Given the description of an element on the screen output the (x, y) to click on. 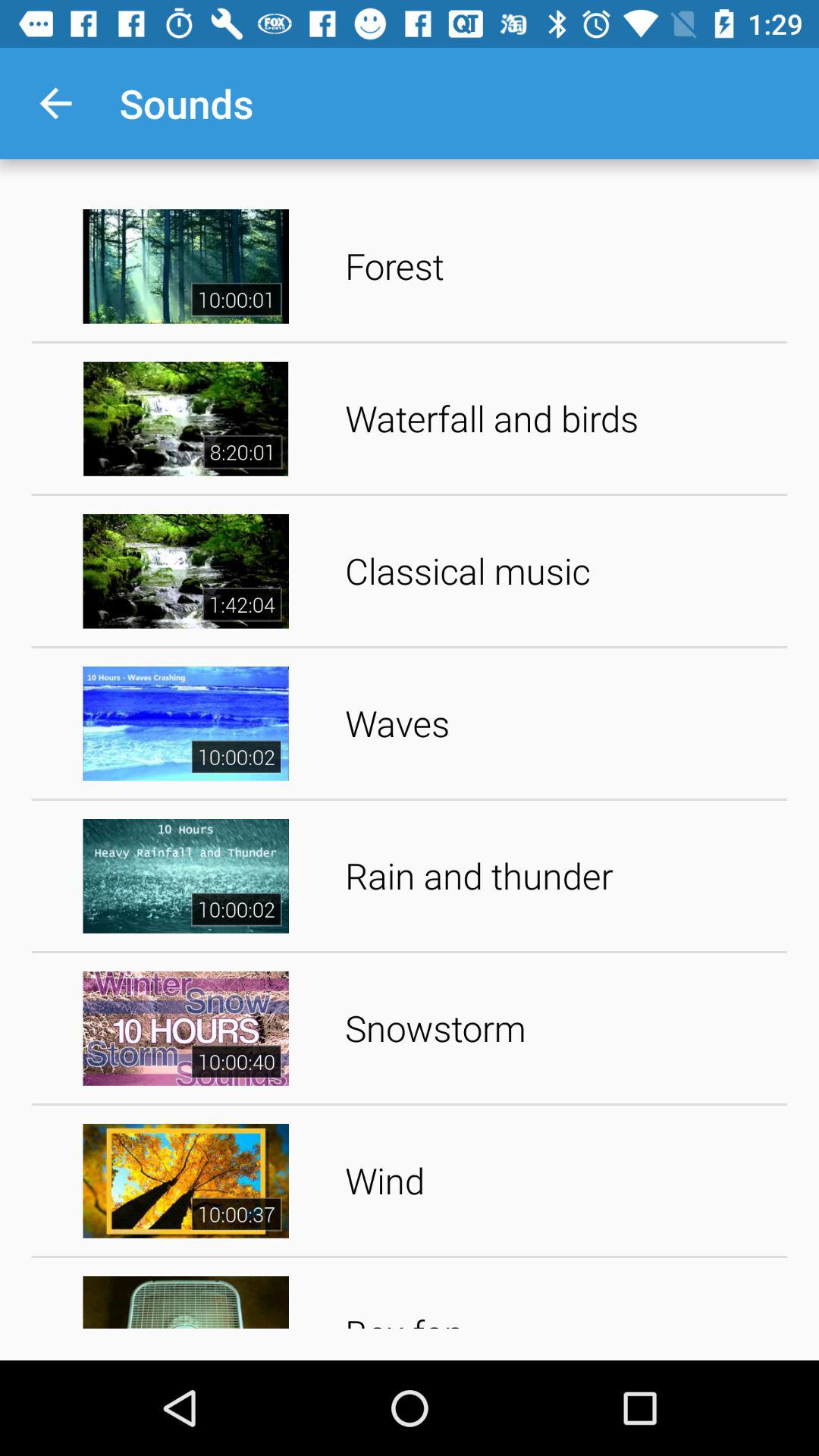
turn on the item to the left of sounds (55, 103)
